Given the description of an element on the screen output the (x, y) to click on. 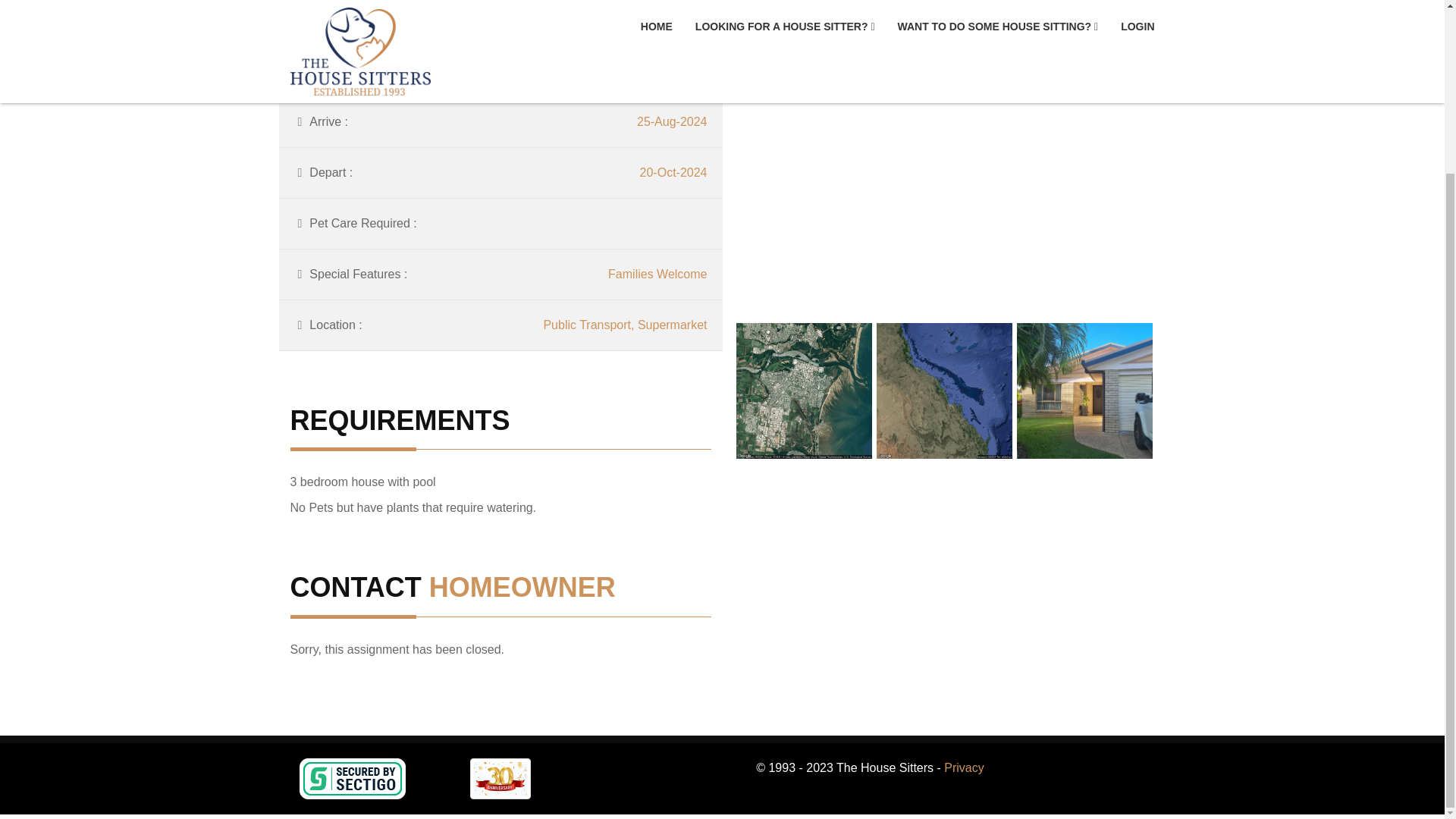
Queensland (674, 19)
Privacy (963, 767)
